Given the description of an element on the screen output the (x, y) to click on. 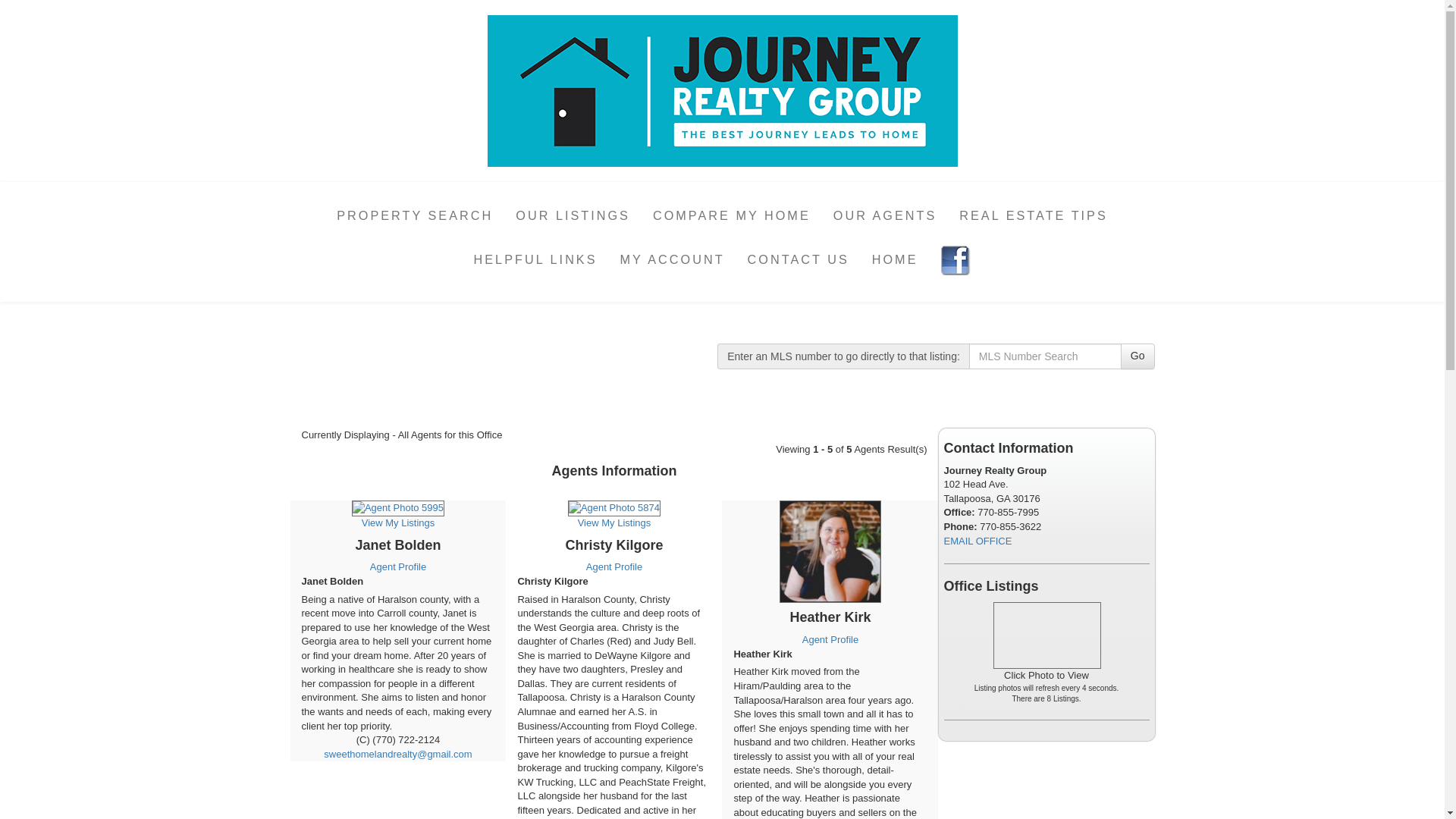
Janet Bolden (398, 653)
EMAIL OFFICE (977, 541)
OUR AGENTS (885, 215)
Heather Kirk (829, 733)
REAL ESTATE TIPS (1033, 215)
View My Listings (613, 515)
Agent Profile (614, 566)
MY ACCOUNT (672, 259)
Go (1137, 356)
View My Listings (398, 515)
HELPFUL LINKS (535, 259)
OUR LISTINGS (572, 215)
CONTACT US (798, 259)
Agent Profile (830, 639)
COMPARE MY HOME (732, 215)
